Given the description of an element on the screen output the (x, y) to click on. 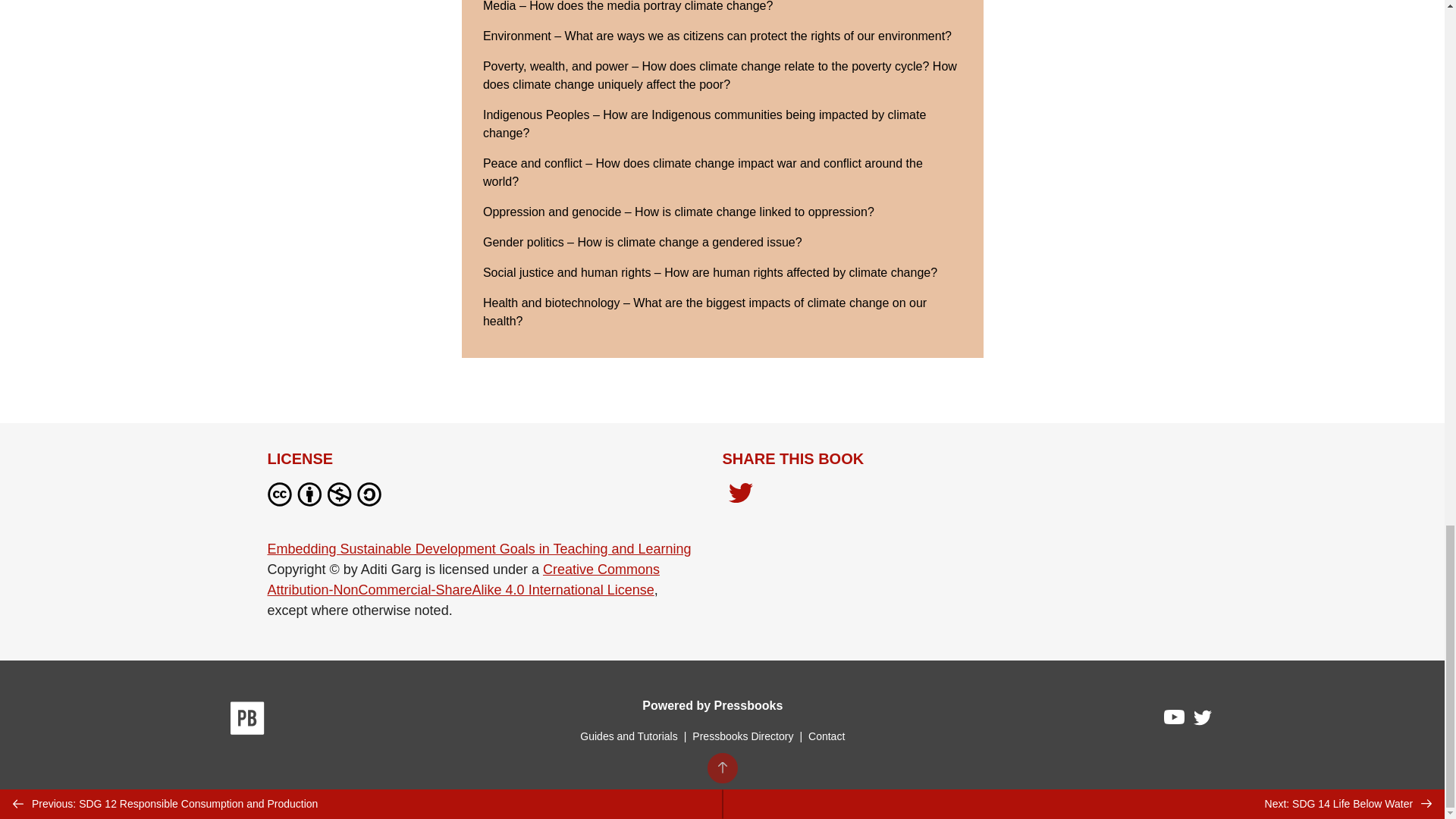
Pressbooks on YouTube (1174, 721)
Pressbooks Directory (742, 736)
Share on Twitter (740, 494)
Powered by Pressbooks (712, 705)
Guides and Tutorials (627, 736)
Contact (826, 736)
Share on Twitter (740, 496)
